Given the description of an element on the screen output the (x, y) to click on. 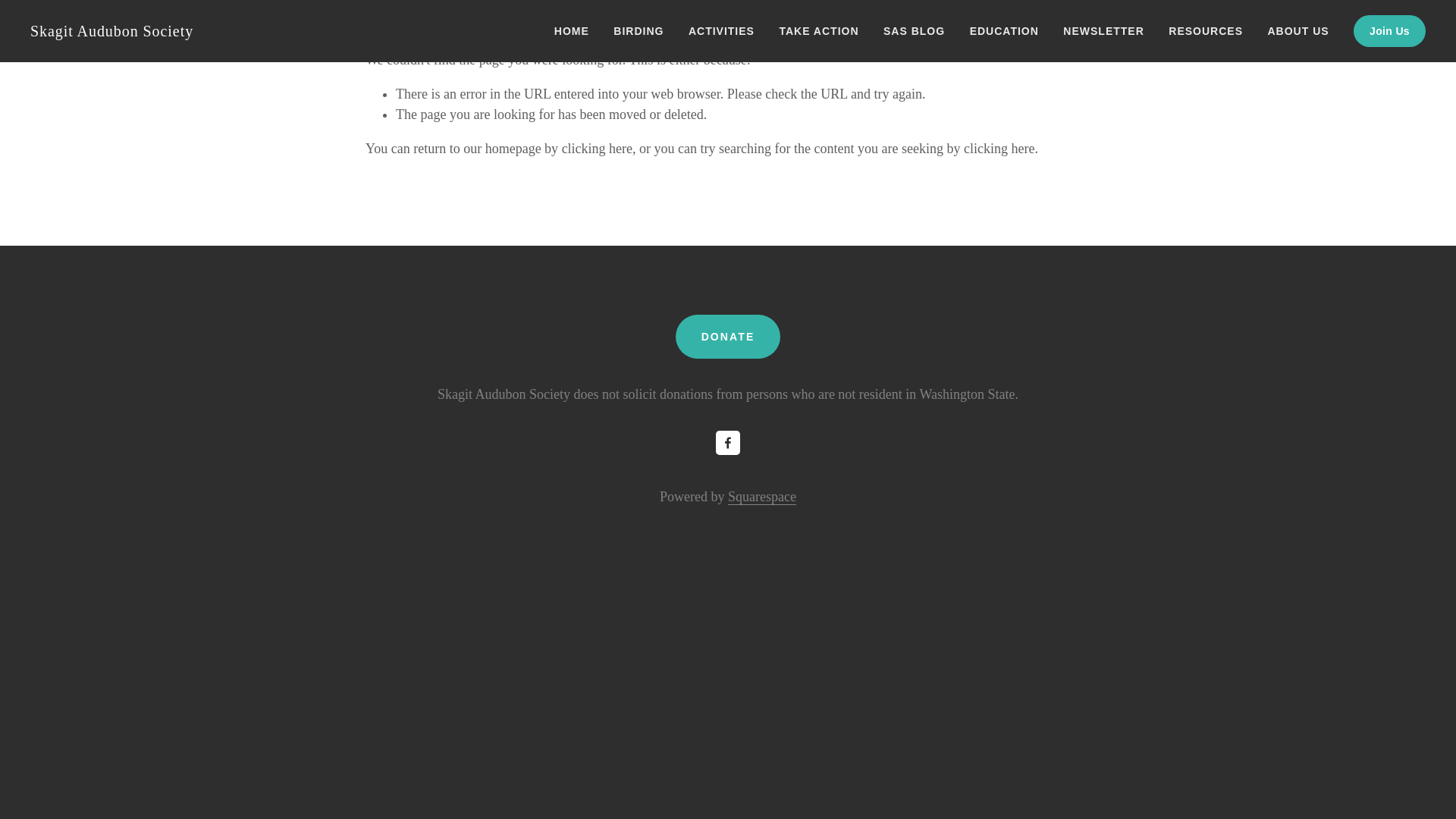
SAS BLOG (913, 31)
HOME (571, 31)
Skagit Audubon Society (111, 30)
